Given the description of an element on the screen output the (x, y) to click on. 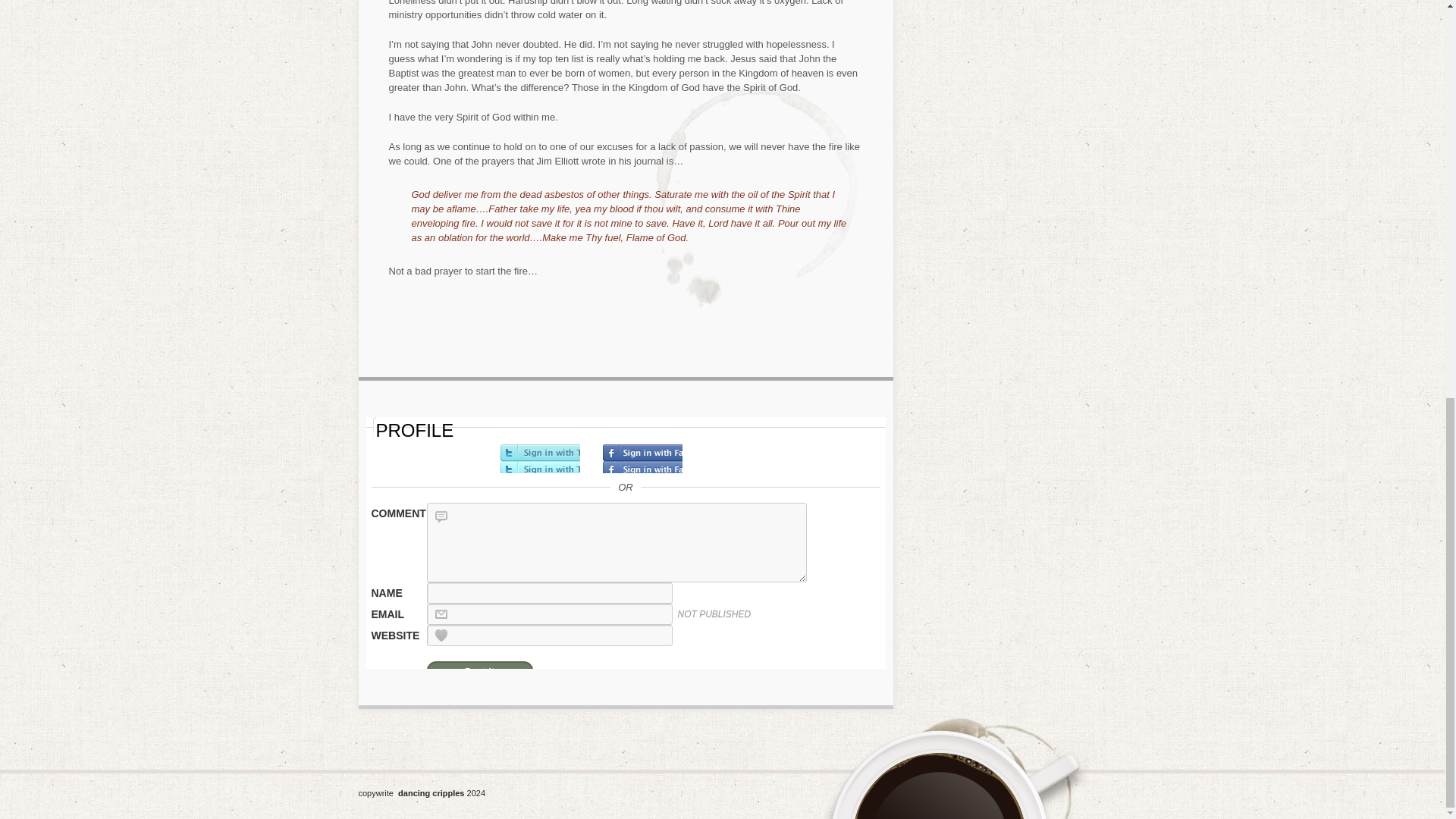
Sign in with Facebook (642, 458)
dancing cripples (431, 791)
Post It (479, 669)
dancing cripples (431, 791)
Sign in with Twitter (539, 458)
Post It (479, 669)
